Given the description of an element on the screen output the (x, y) to click on. 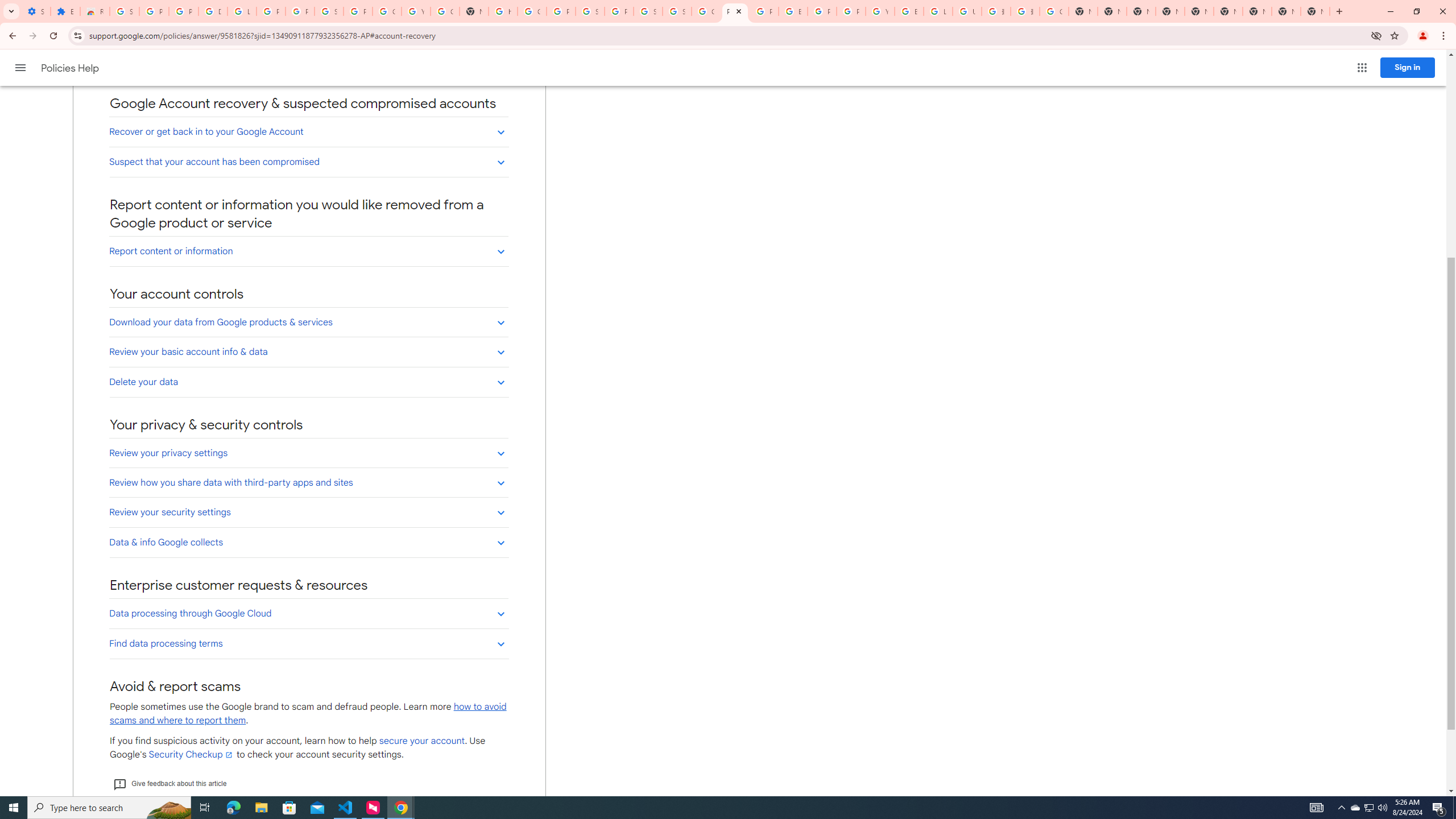
Sign in - Google Accounts (590, 11)
Google Images (1054, 11)
Recover or get back in to your Google Account (308, 131)
Third-party cookies blocked (1376, 35)
secure your account (421, 740)
New Tab (1315, 11)
Review your privacy settings (308, 453)
Find data processing terms (308, 643)
https://scholar.google.com/ (502, 11)
